Given the description of an element on the screen output the (x, y) to click on. 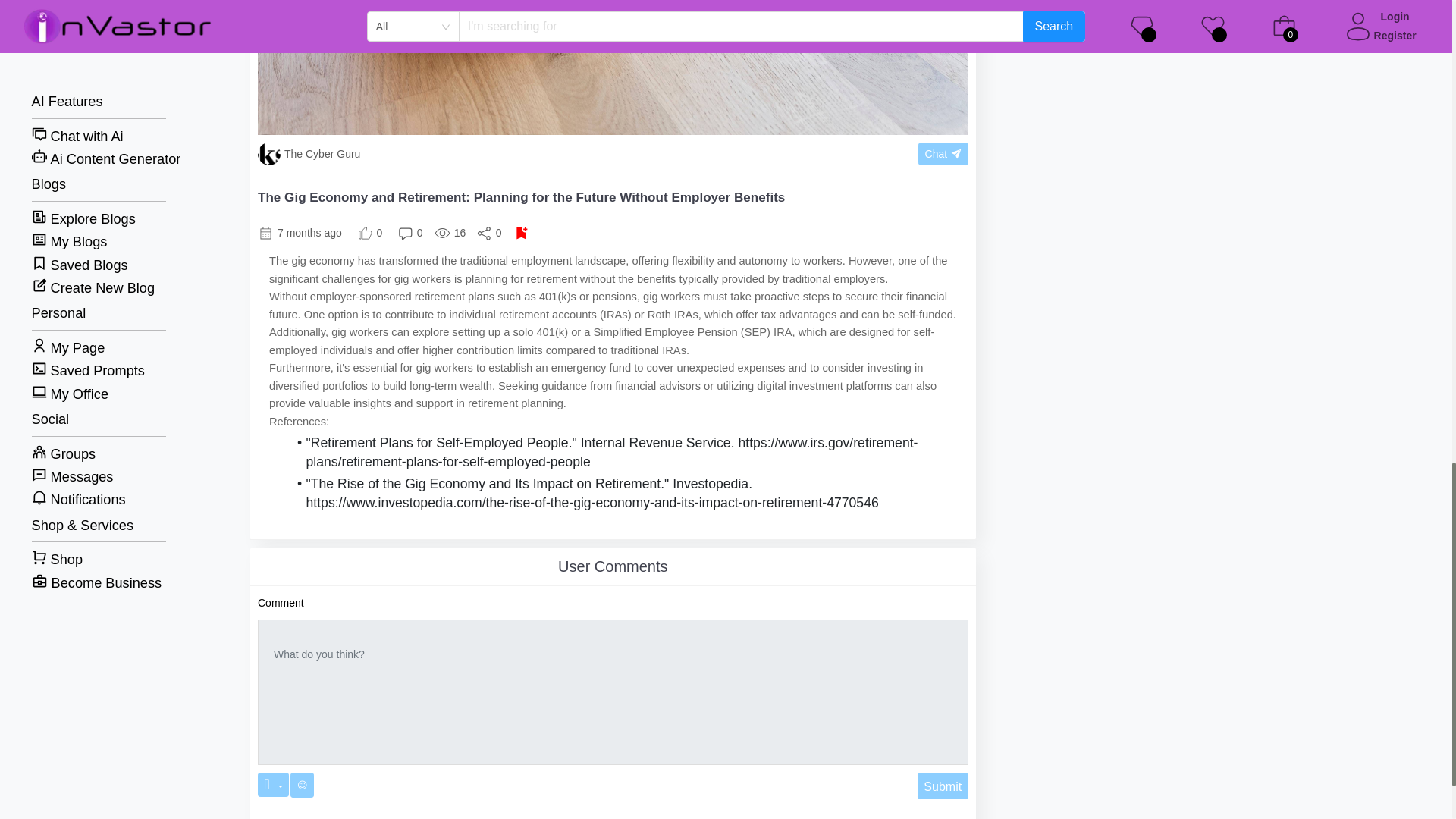
Save blog (521, 232)
Submit (942, 786)
0 (370, 232)
0 (409, 232)
View Counts (449, 232)
The Cyber Guru (493, 153)
Chat (943, 153)
Comments (409, 232)
